Given the description of an element on the screen output the (x, y) to click on. 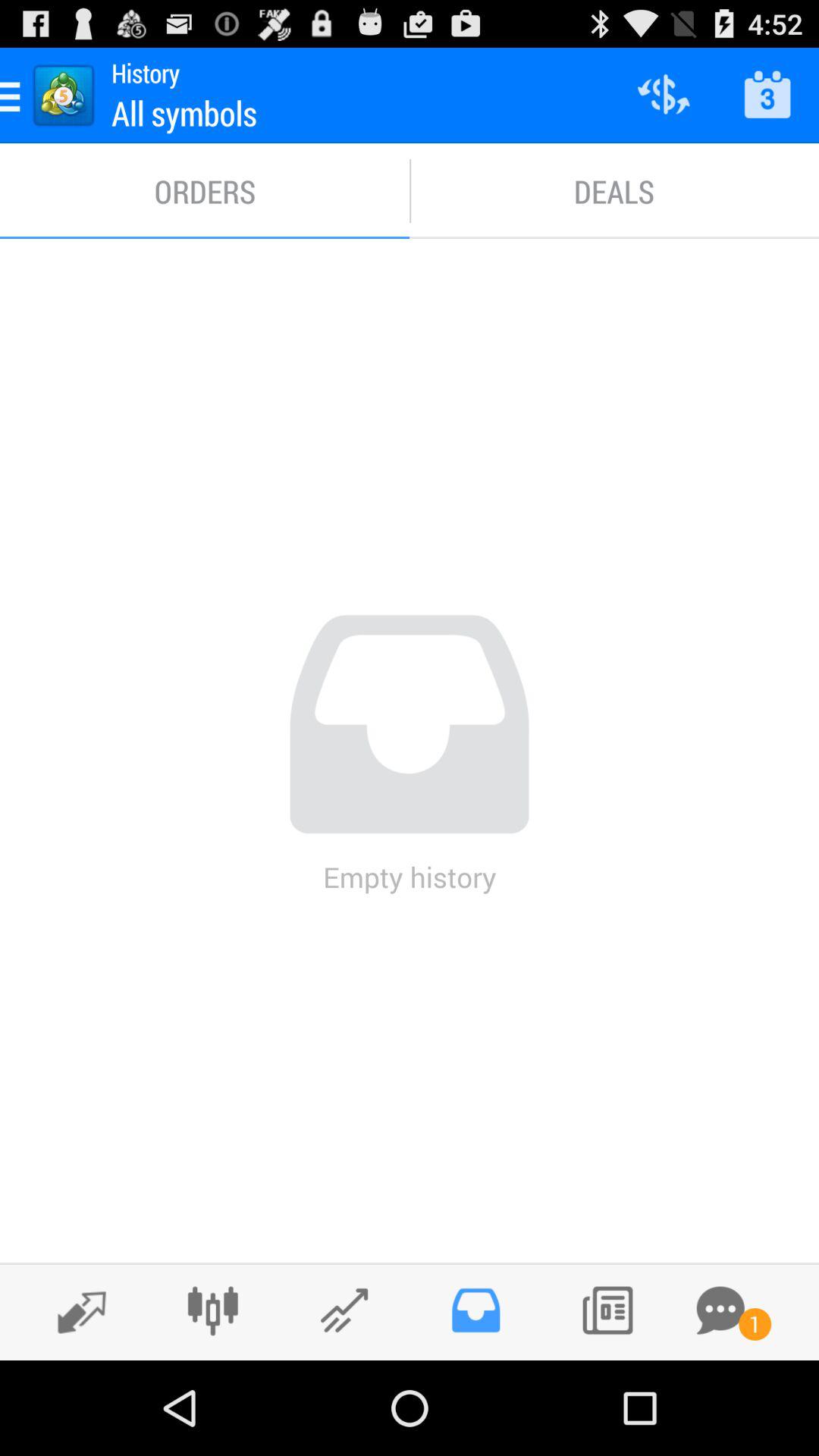
open the orders icon (204, 190)
